Given the description of an element on the screen output the (x, y) to click on. 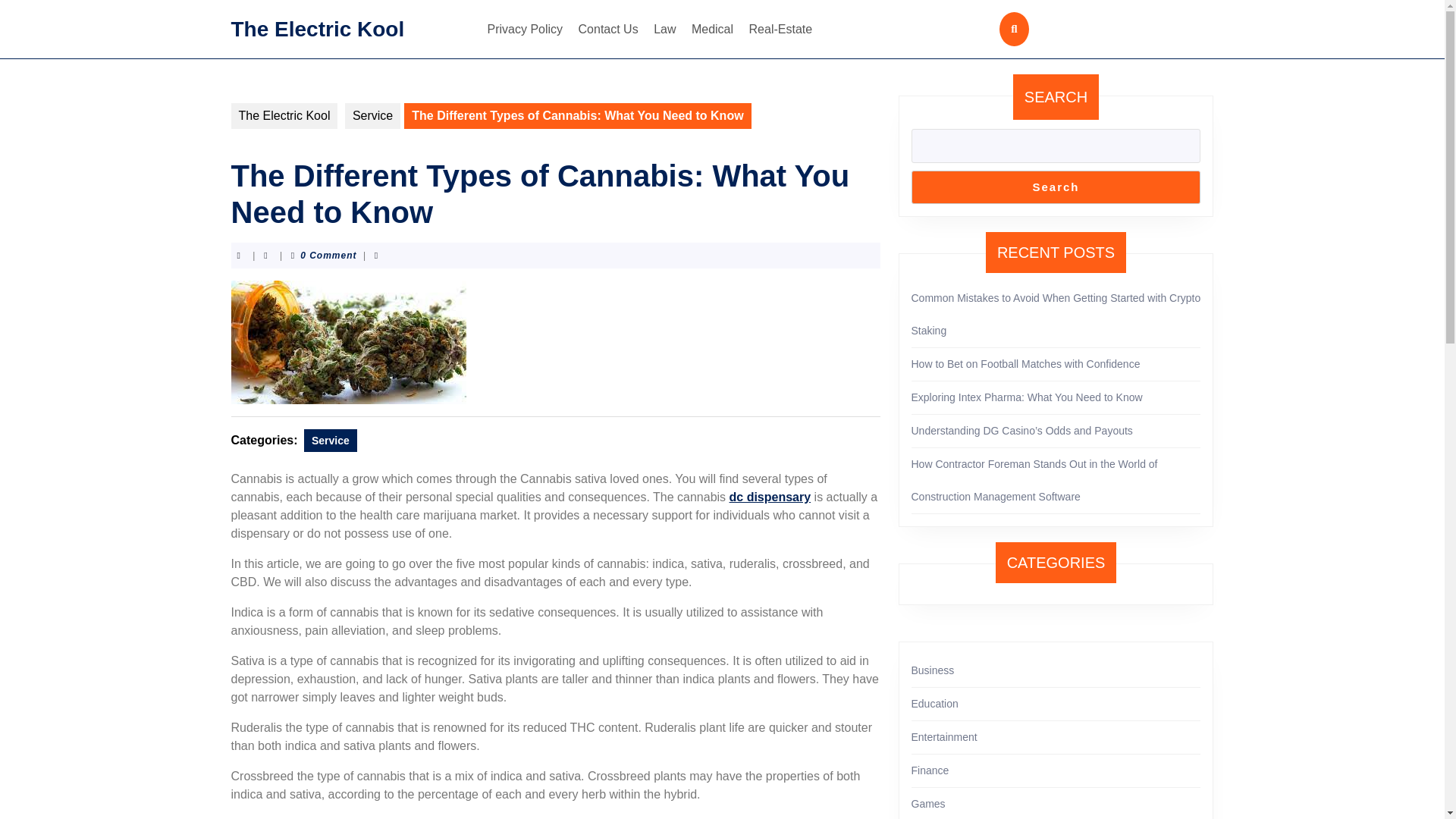
dc dispensary (769, 496)
Exploring Intex Pharma: What You Need to Know (1026, 397)
Search (1056, 186)
Service (372, 115)
Contact Us (608, 28)
Medical (712, 28)
Education (934, 703)
How to Bet on Football Matches with Confidence (1025, 363)
